Given the description of an element on the screen output the (x, y) to click on. 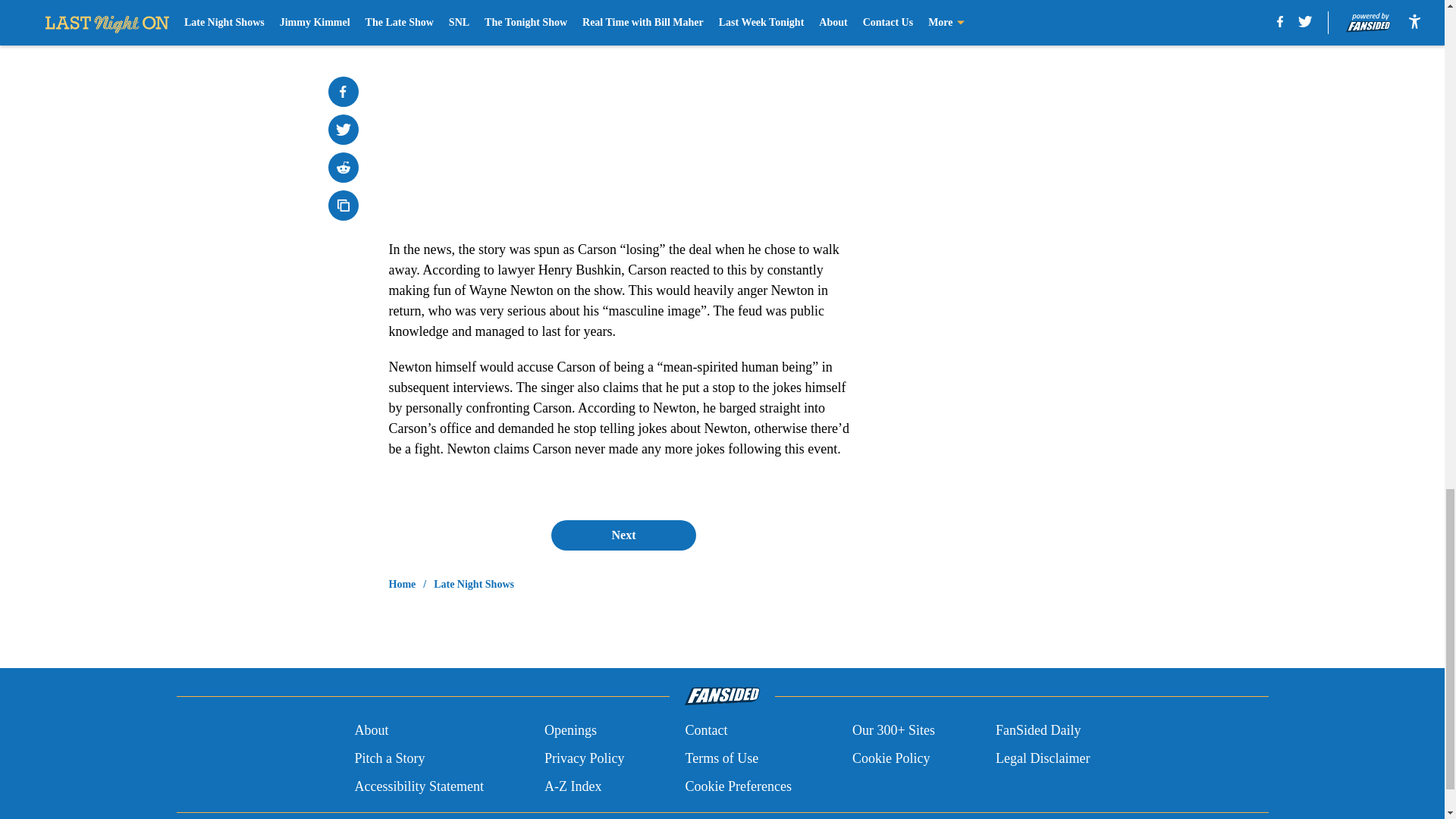
Pitch a Story (389, 758)
FanSided Daily (1038, 730)
Next (622, 535)
Contact (705, 730)
About (370, 730)
Home (401, 584)
Openings (570, 730)
Late Night Shows (473, 584)
